Given the description of an element on the screen output the (x, y) to click on. 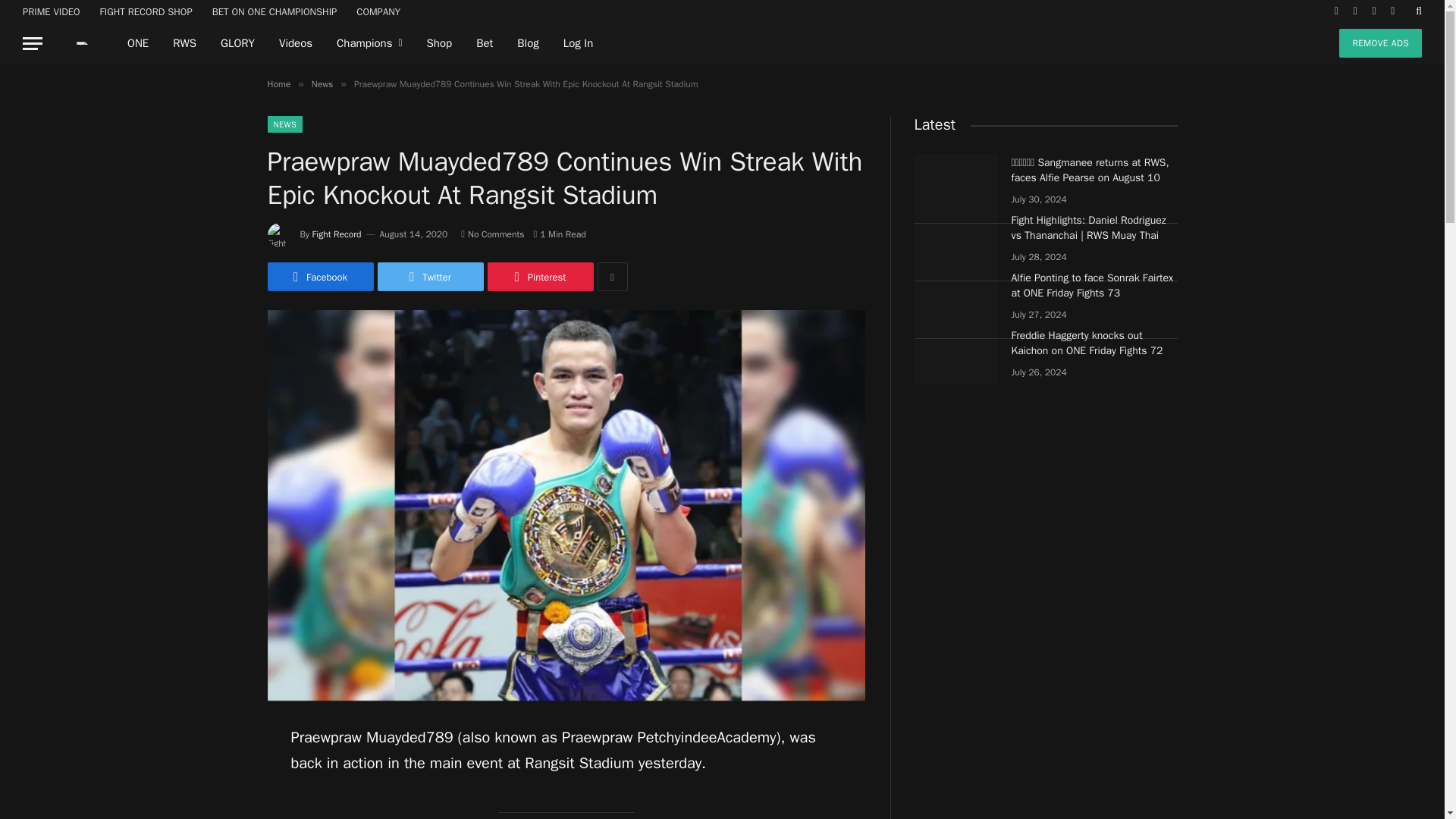
FIGHT RECORD SHOP (146, 11)
Home (277, 83)
Facebook (319, 276)
News (322, 83)
Show More Social Sharing (611, 276)
Share on Facebook (319, 276)
Shop (439, 42)
RWS (184, 42)
Log In (578, 42)
PRIME VIDEO (51, 11)
COMPANY (378, 11)
Share on Pinterest (539, 276)
Fight Record (337, 234)
NEWS (284, 124)
